Given the description of an element on the screen output the (x, y) to click on. 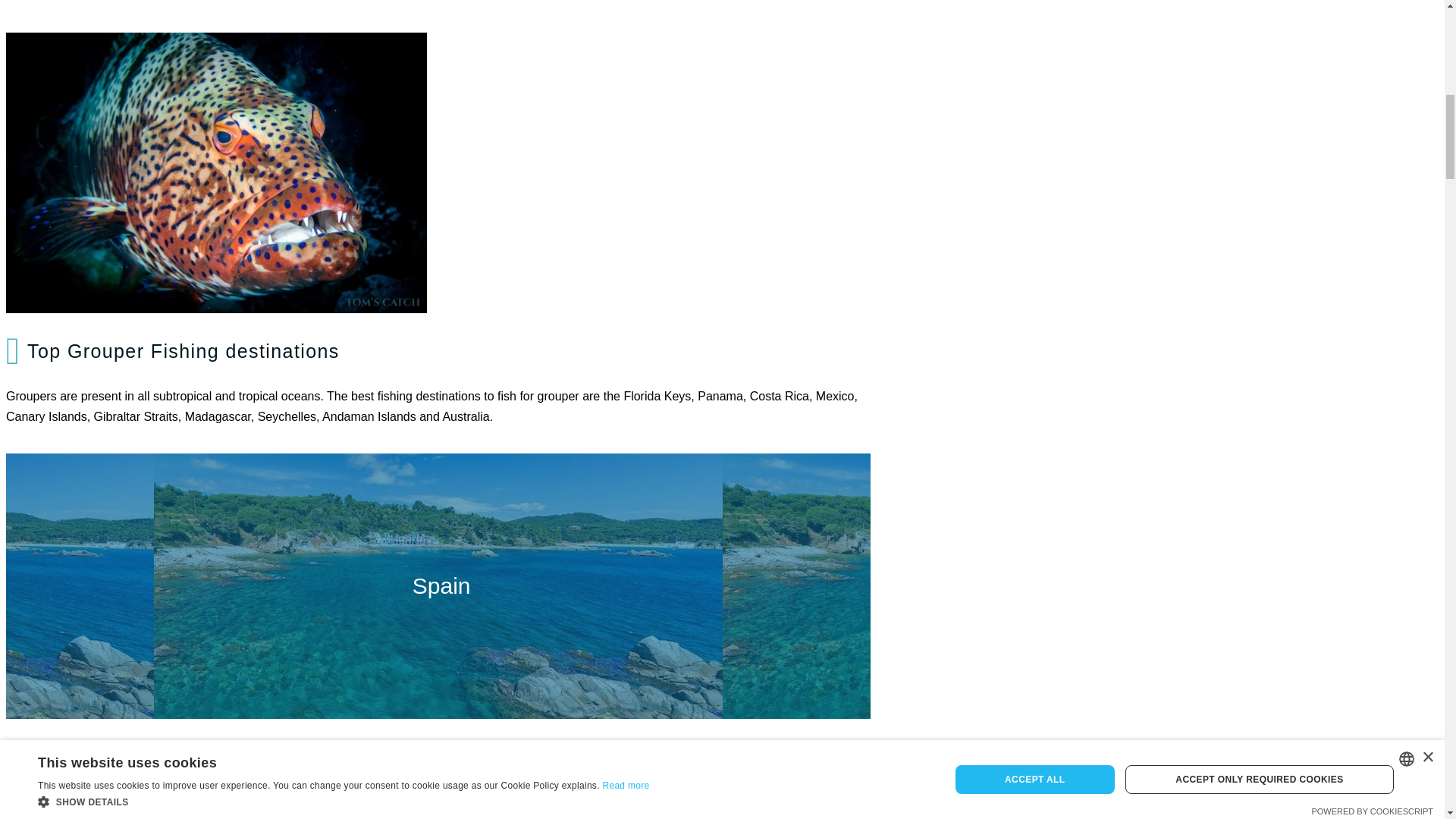
Balearic Islands (437, 780)
